Given the description of an element on the screen output the (x, y) to click on. 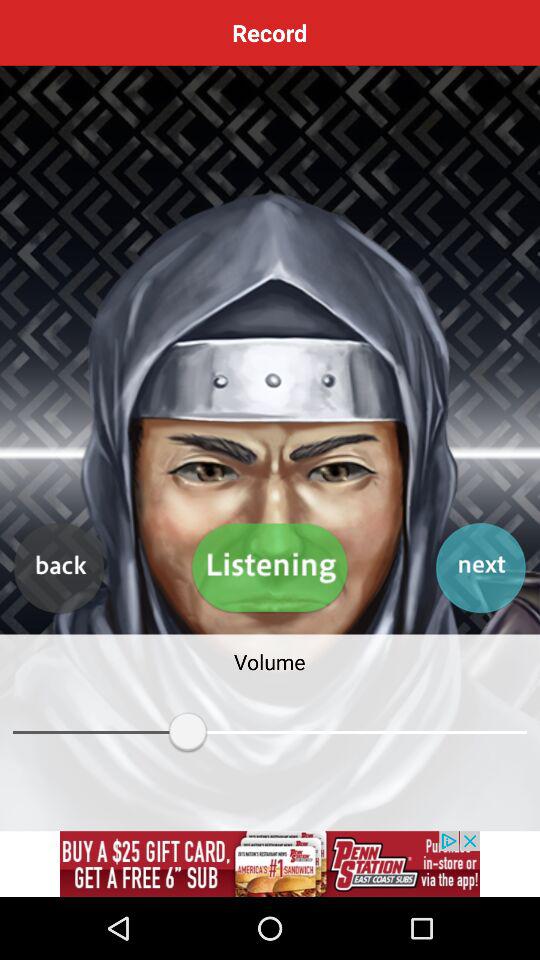
next (480, 568)
